Given the description of an element on the screen output the (x, y) to click on. 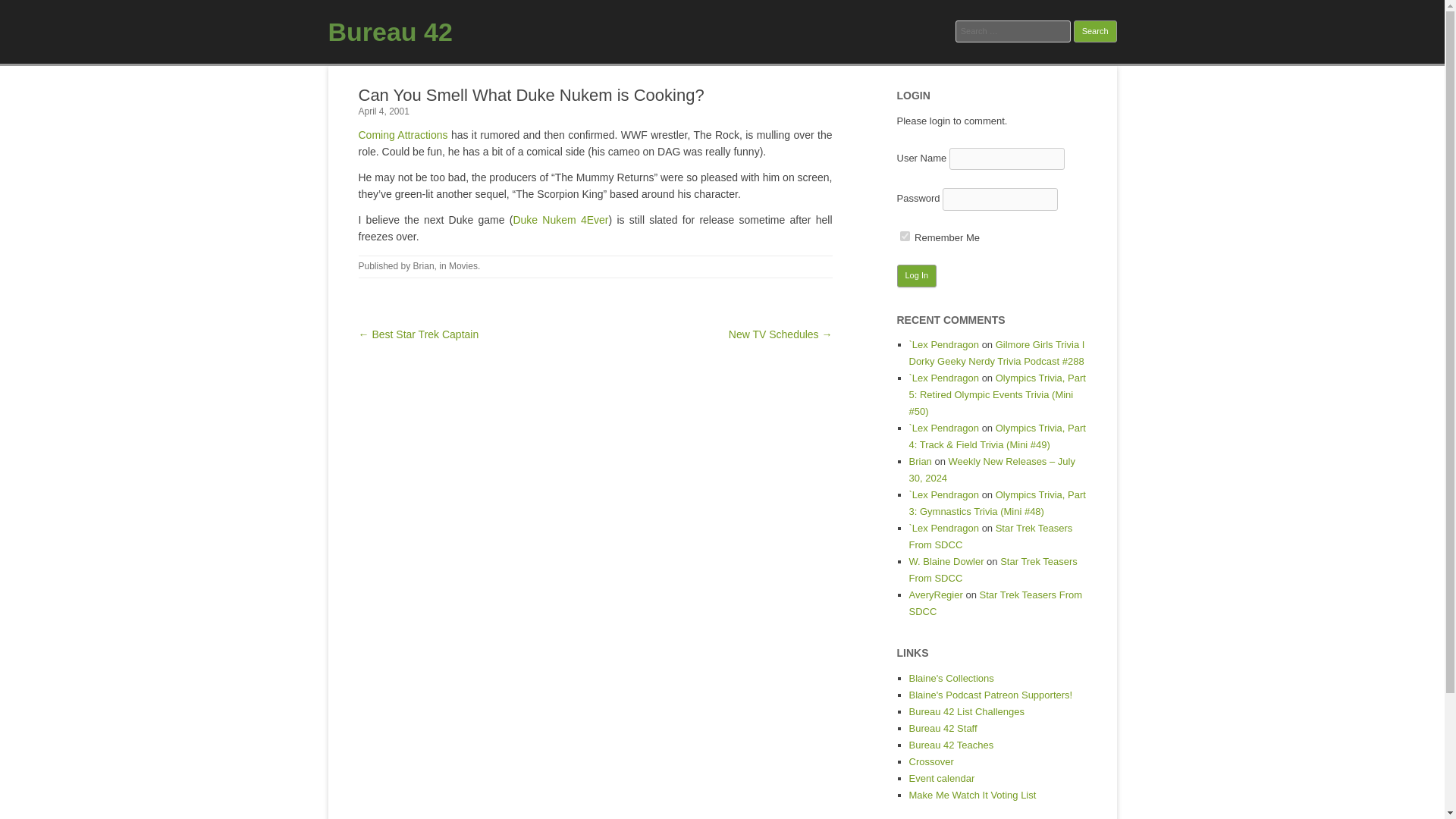
Log In (916, 275)
Search (1095, 31)
Skip to content (757, 71)
Coming Attractions (402, 134)
Star Trek Teasers From SDCC (992, 569)
Skip to content (757, 71)
The home of our new annual list challenges. (966, 711)
Movies (462, 266)
Star Trek Teasers From SDCC (989, 536)
Search (1095, 31)
April 4, 2001 (383, 111)
Brian (423, 266)
Star Trek Teasers From SDCC (994, 602)
Search (1095, 31)
